Given the description of an element on the screen output the (x, y) to click on. 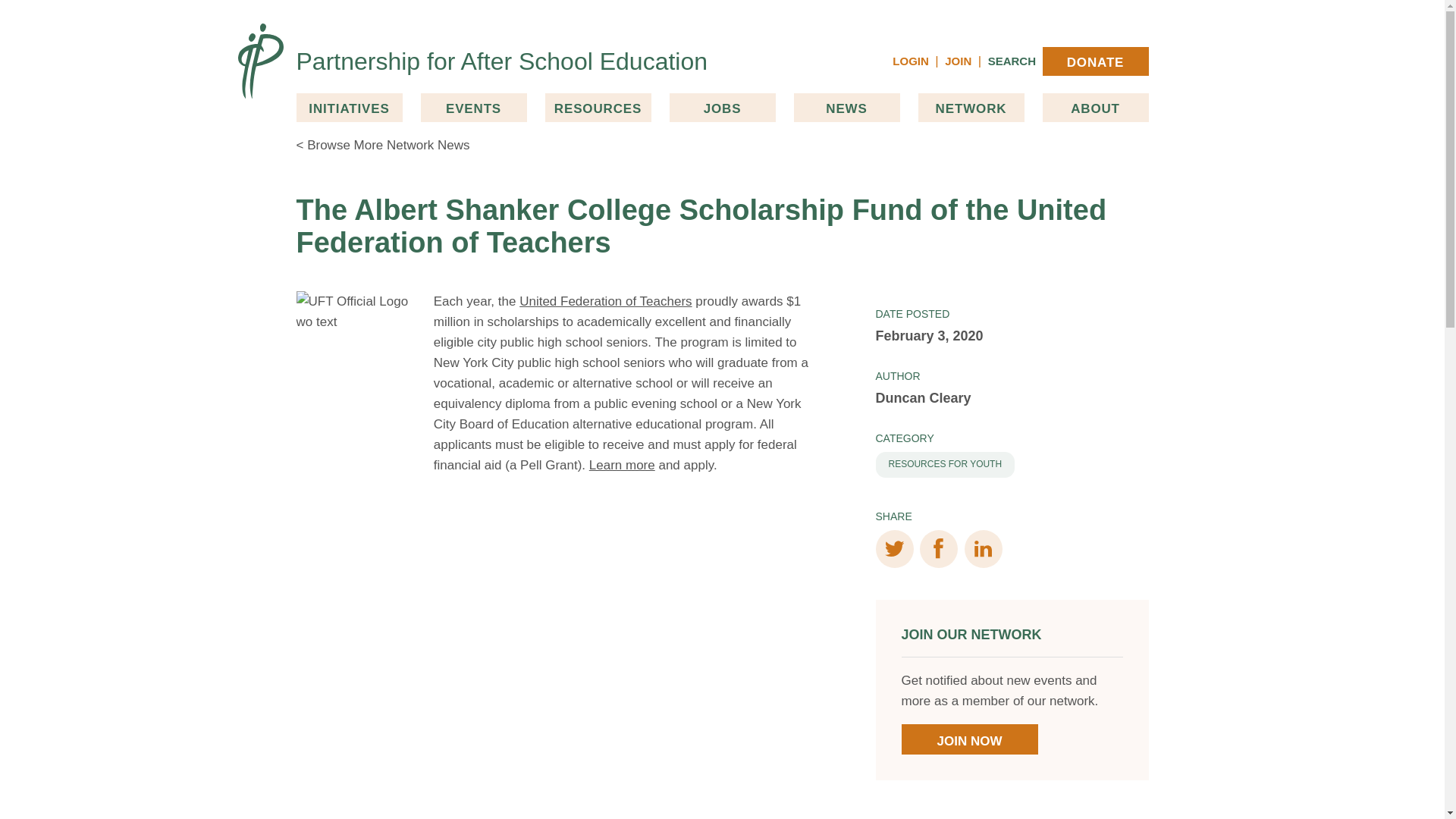
EVENTS (472, 107)
JOIN (957, 60)
DONATE (1095, 61)
Partnership for After School Education (501, 61)
NEWS (846, 107)
RESOURCES (597, 107)
JOBS (721, 107)
SEARCH (1011, 60)
LOGIN (910, 60)
INITIATIVES (348, 107)
